Given the description of an element on the screen output the (x, y) to click on. 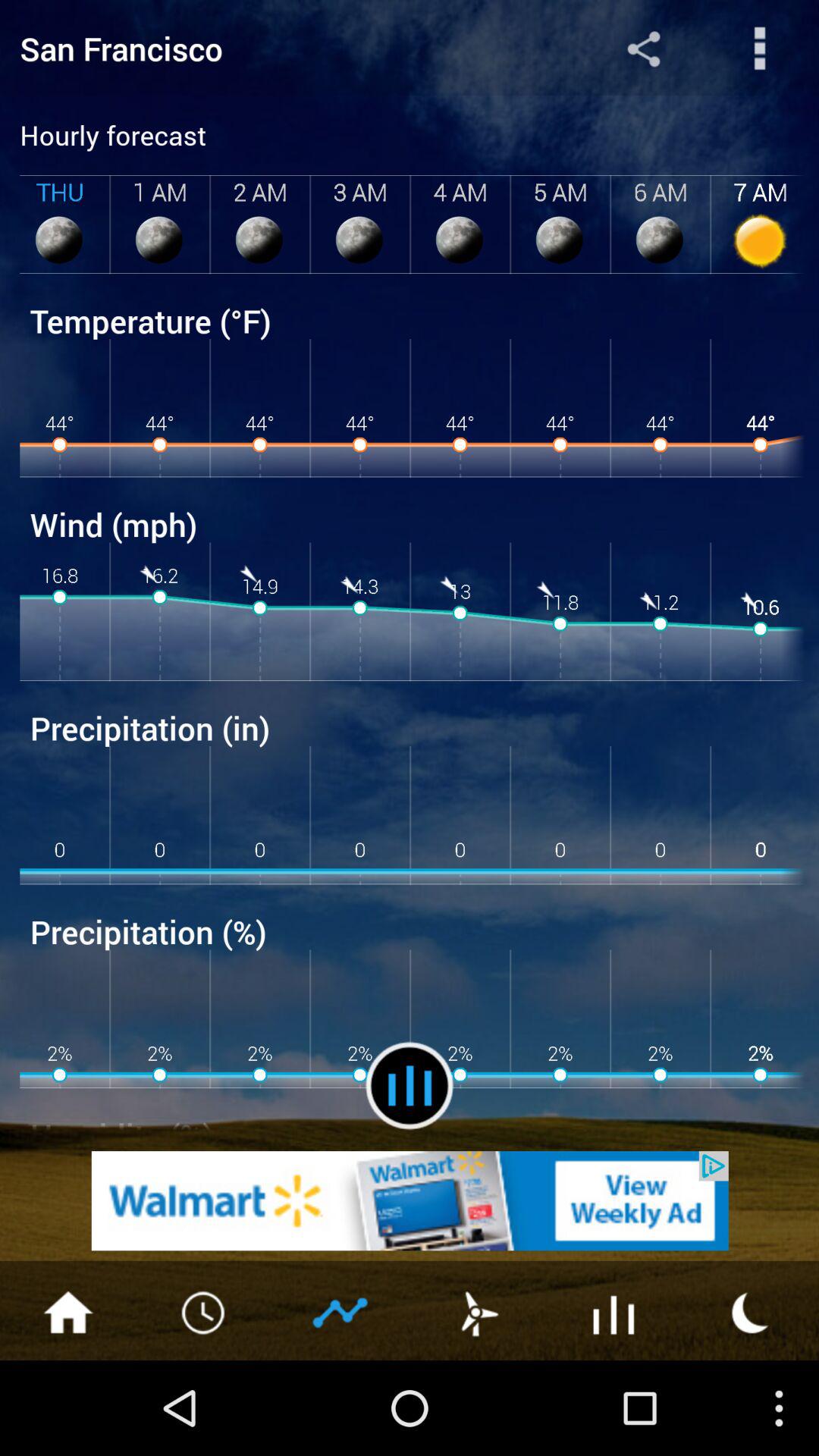
add global location (643, 48)
